Given the description of an element on the screen output the (x, y) to click on. 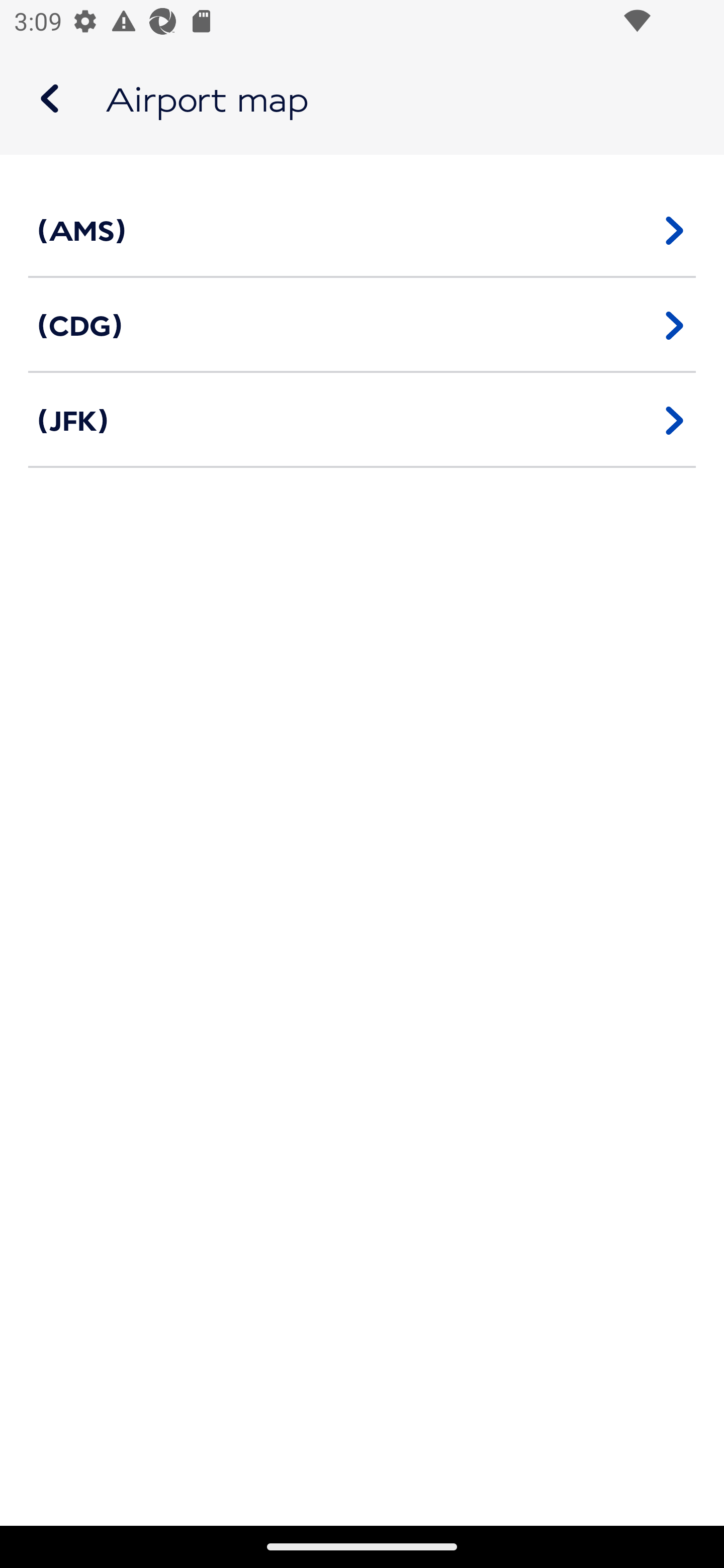
Airport map (362, 98)
 (AMS) (361, 230)
 (CDG) (361, 325)
 (JFK) (361, 420)
